Given the description of an element on the screen output the (x, y) to click on. 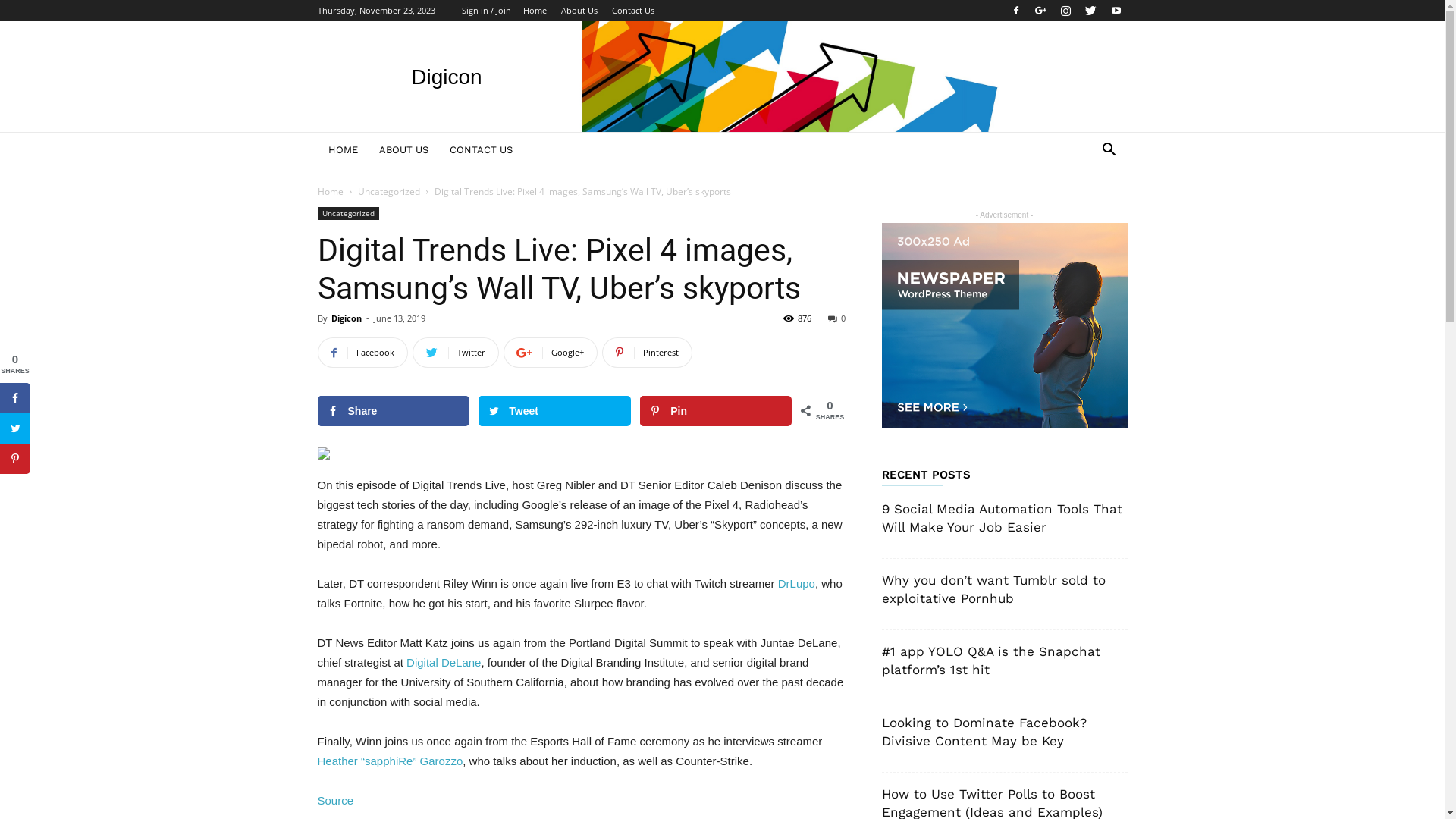
HOME Element type: text (341, 149)
Facebook Element type: hover (1015, 10)
Digital DeLane Element type: text (443, 661)
ABOUT US Element type: text (403, 149)
Share Element type: text (392, 410)
Home Element type: text (534, 9)
Looking to Dominate Facebook? Divisive Content May be Key Element type: text (983, 731)
CONTACT US Element type: text (480, 149)
Digicon Element type: text (345, 317)
Google+ Element type: text (550, 352)
0 Element type: text (836, 317)
Pinterest Element type: text (647, 352)
Pin Element type: text (715, 410)
Twitter Element type: text (455, 352)
Tweet Element type: text (554, 410)
Instagram Element type: hover (1065, 10)
Source Element type: text (334, 799)
Contact Us Element type: text (632, 9)
DrLupo Element type: text (796, 583)
Youtube Element type: hover (1115, 10)
Facebook Element type: text (361, 352)
Twitter Element type: hover (1090, 10)
Uncategorized Element type: text (347, 213)
Sign in / Join Element type: text (485, 9)
Search Element type: text (1085, 210)
Google+ Element type: hover (1040, 10)
Home Element type: text (329, 191)
Uncategorized Element type: text (388, 191)
About Us Element type: text (579, 9)
